Given the description of an element on the screen output the (x, y) to click on. 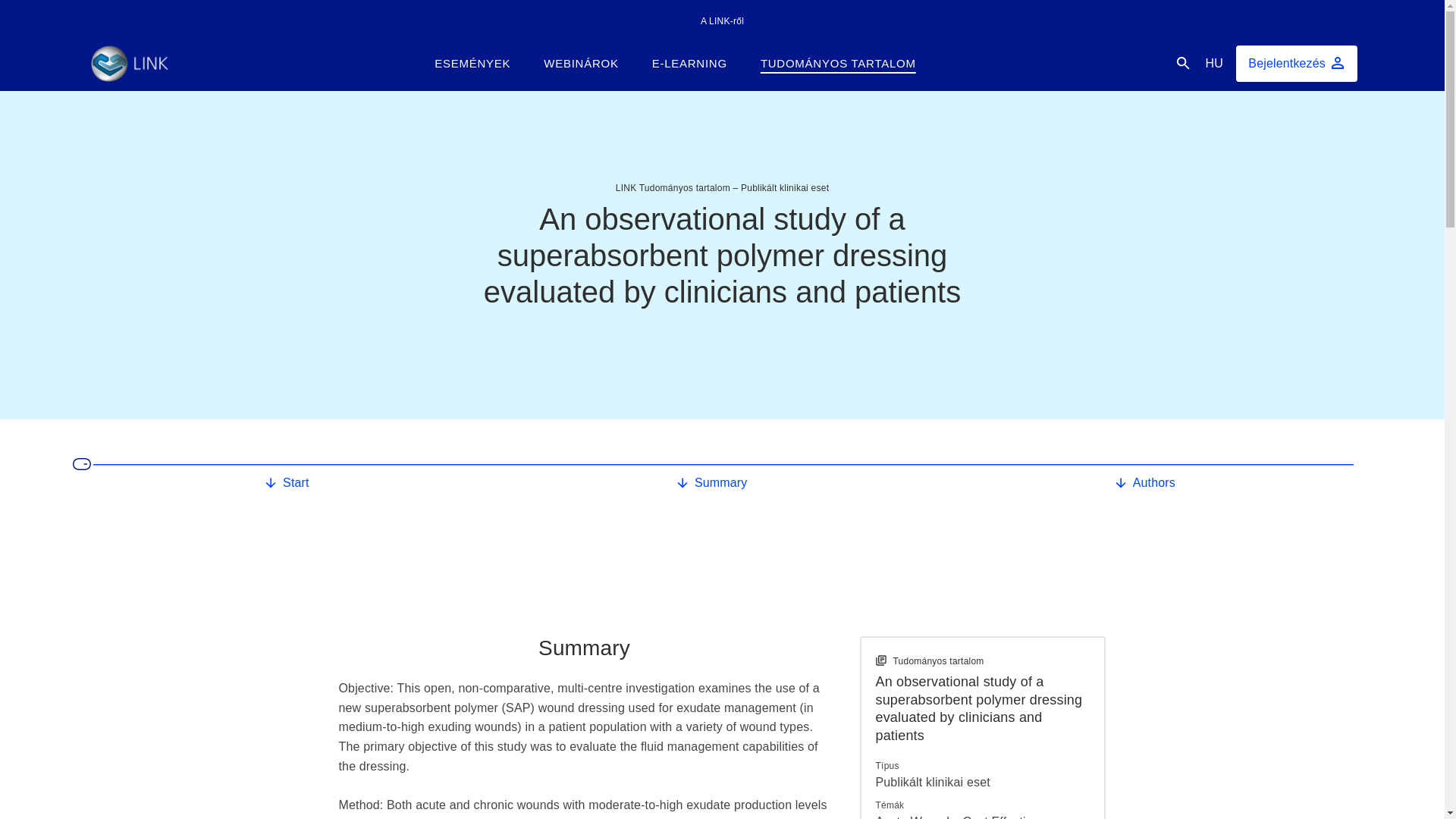
E-LEARNING (689, 63)
Summary (713, 481)
Home (129, 63)
Authors (1147, 481)
Start (289, 481)
